Given the description of an element on the screen output the (x, y) to click on. 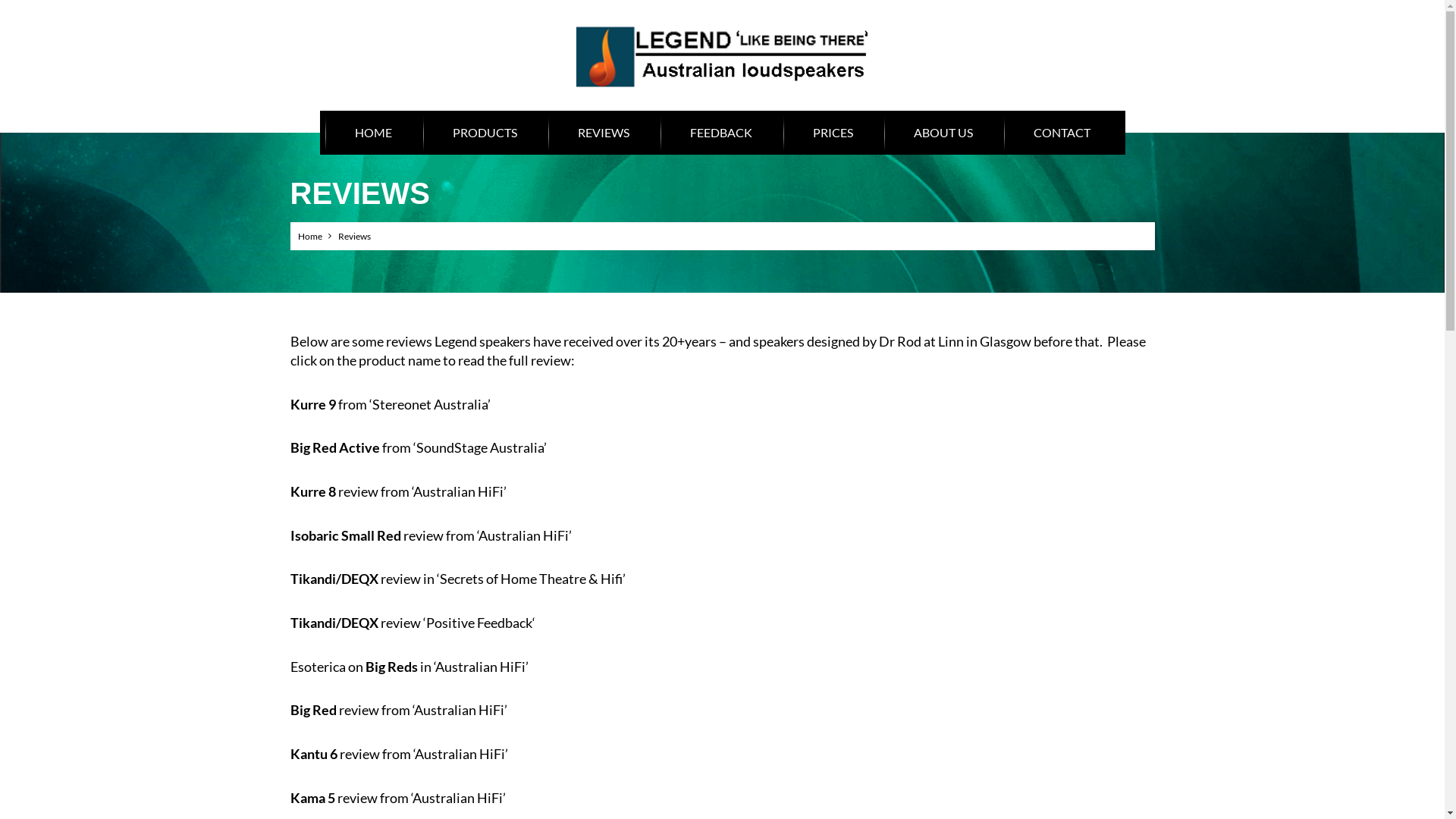
FEEDBACK Element type: text (720, 132)
CONTACT Element type: text (1061, 132)
HOME Element type: text (373, 132)
PRODUCTS Element type: text (483, 132)
ABOUT US Element type: text (942, 132)
Home Element type: text (309, 235)
PRICES Element type: text (832, 132)
REVIEWS Element type: text (603, 132)
